Given the description of an element on the screen output the (x, y) to click on. 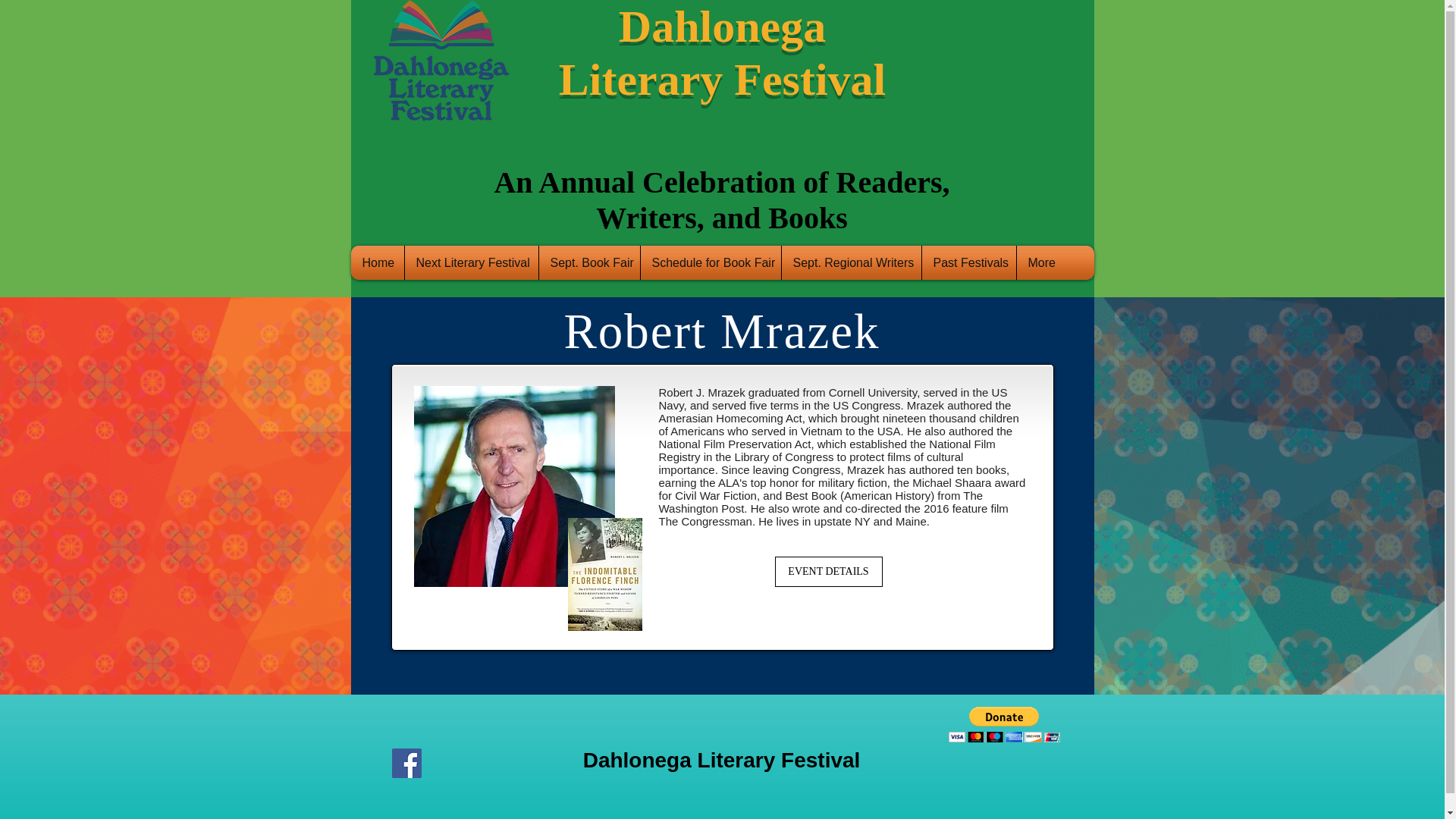
Schedule for Book Fair (711, 262)
Sept. Regional Writers (851, 262)
Past Festivals (967, 262)
EVENT DETAILS (828, 571)
Home (377, 262)
CNegron Profile.jpg (513, 485)
Sept. Book Fair (589, 262)
Next Literary Festival (470, 262)
